Given the description of an element on the screen output the (x, y) to click on. 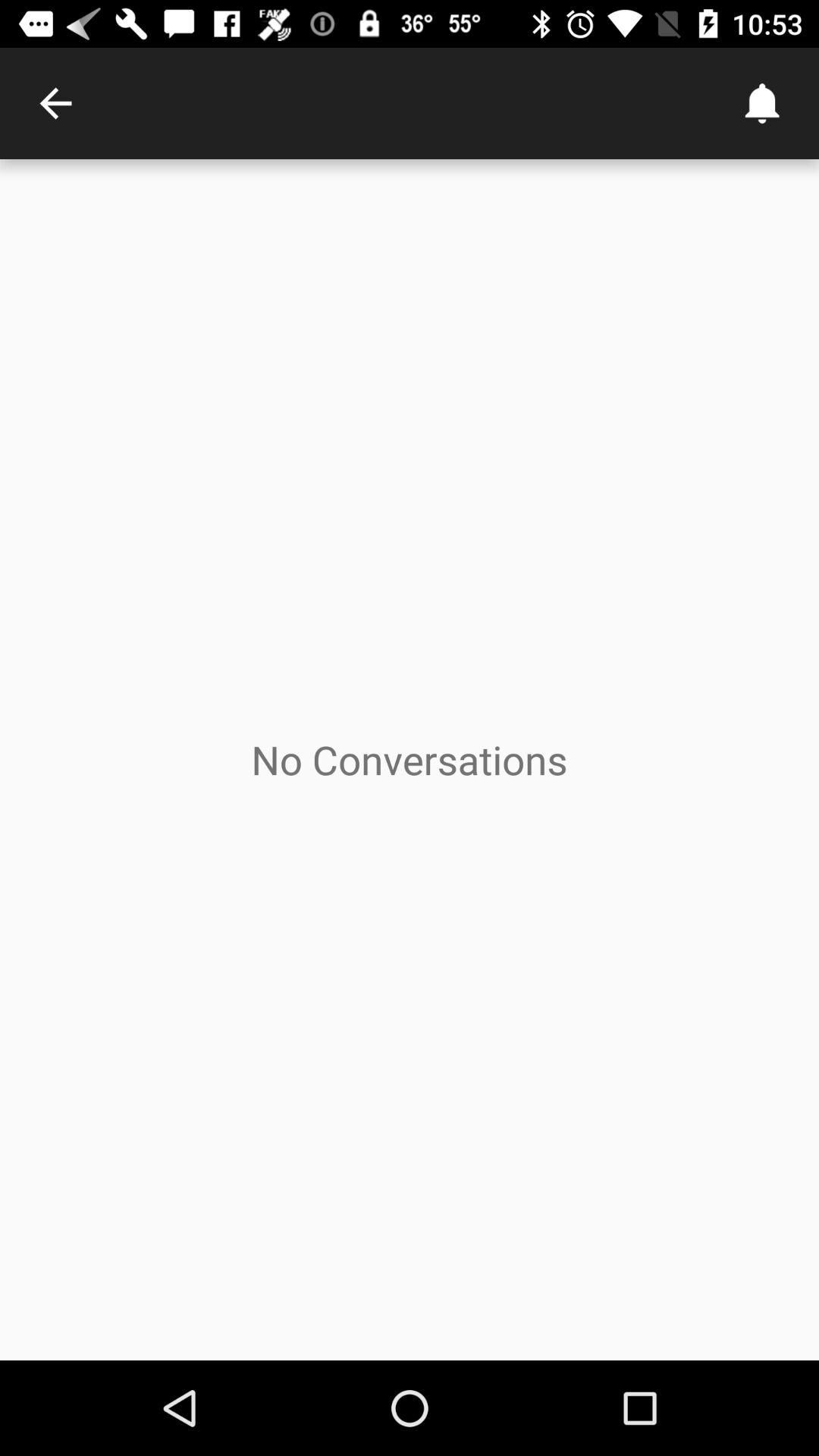
turn on the item at the top right corner (763, 103)
